Given the description of an element on the screen output the (x, y) to click on. 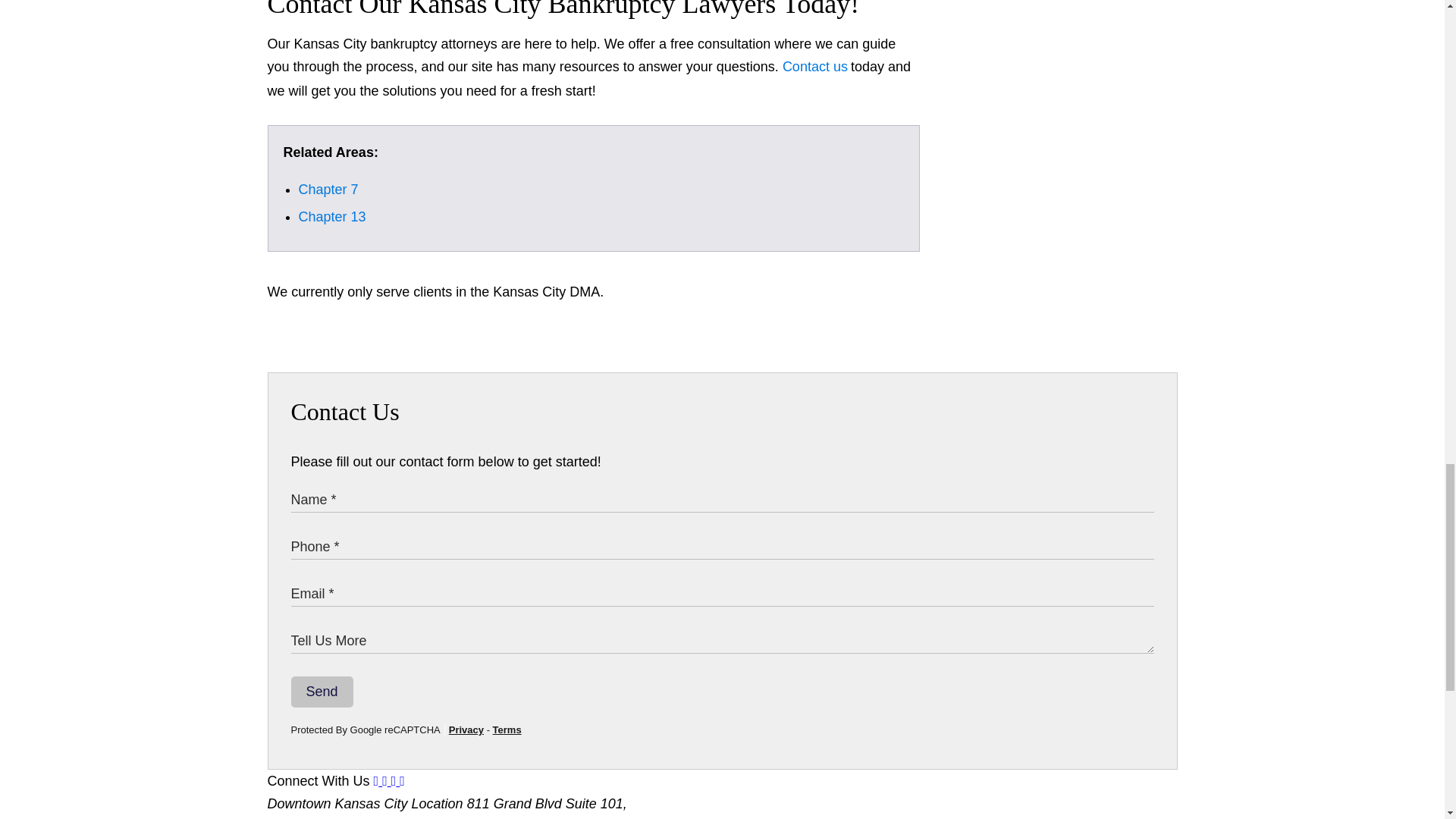
Contact Kansas City's Bankruptcy Attorney (815, 66)
